Given the description of an element on the screen output the (x, y) to click on. 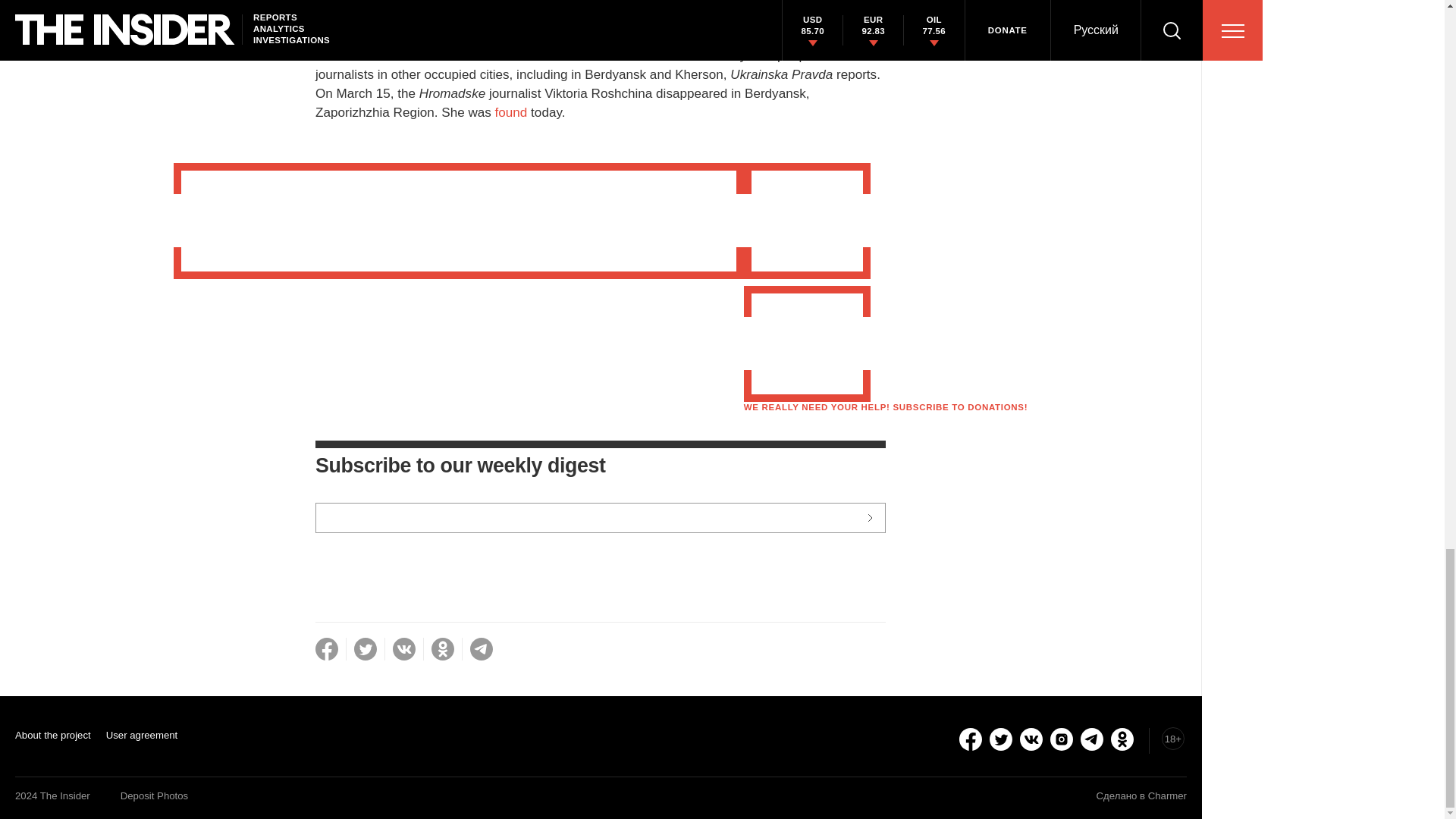
User agreement (141, 734)
About the project (52, 734)
Deposit Photos (153, 795)
Charmer (1167, 795)
WE REALLY NEED YOUR HELP! SUBSCRIBE TO DONATIONS! (885, 406)
found (511, 112)
